Given the description of an element on the screen output the (x, y) to click on. 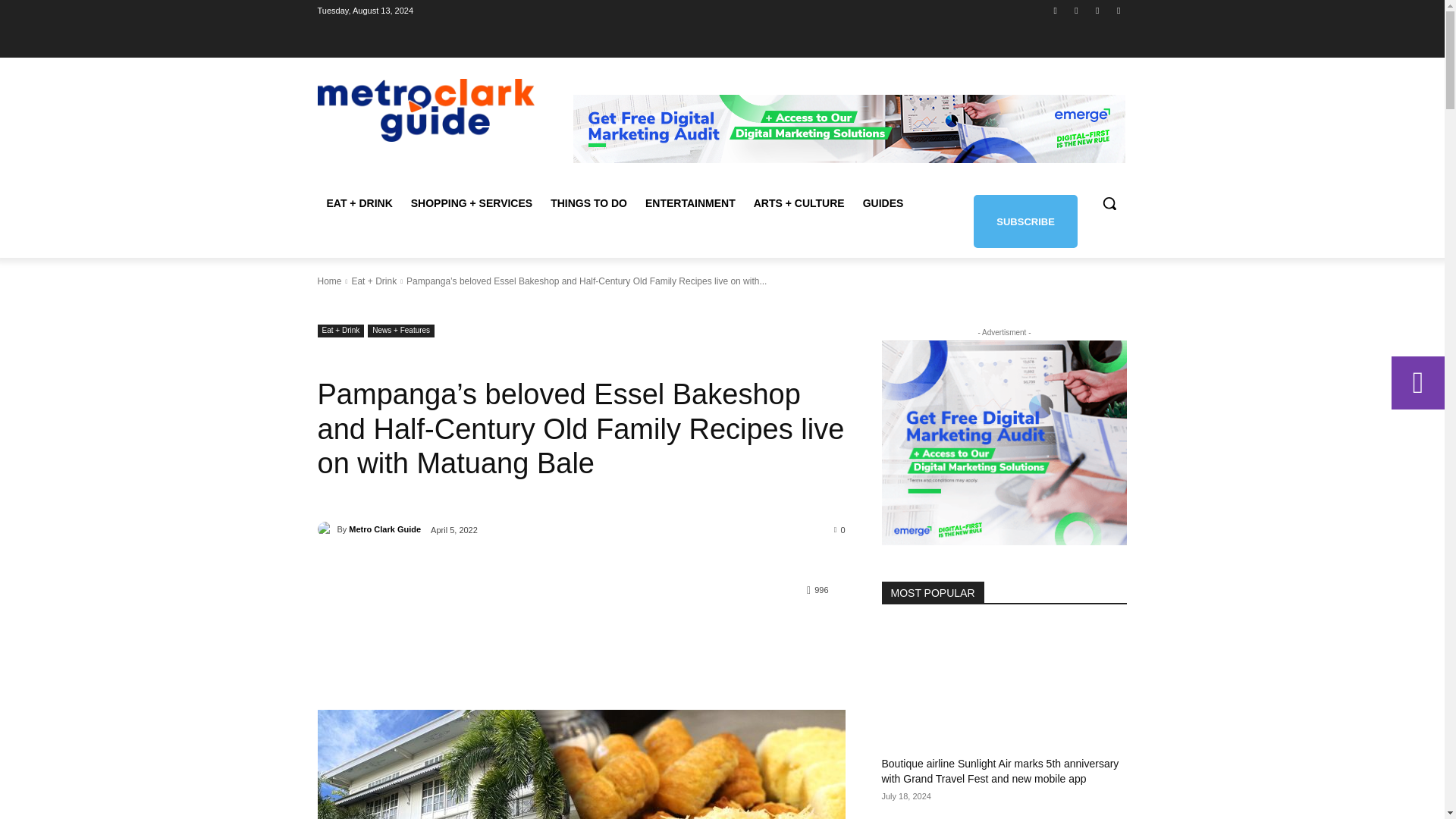
Metro Clark Guide (326, 529)
THINGS TO DO (588, 203)
Metro Clark Guide (384, 528)
TikTok (1097, 9)
SUBSCRIBE (1025, 221)
Instagram (1075, 9)
Subscribe (1025, 221)
ENTERTAINMENT (690, 203)
MetroClarkGuide.com (425, 109)
Twitter (1117, 9)
